Given the description of an element on the screen output the (x, y) to click on. 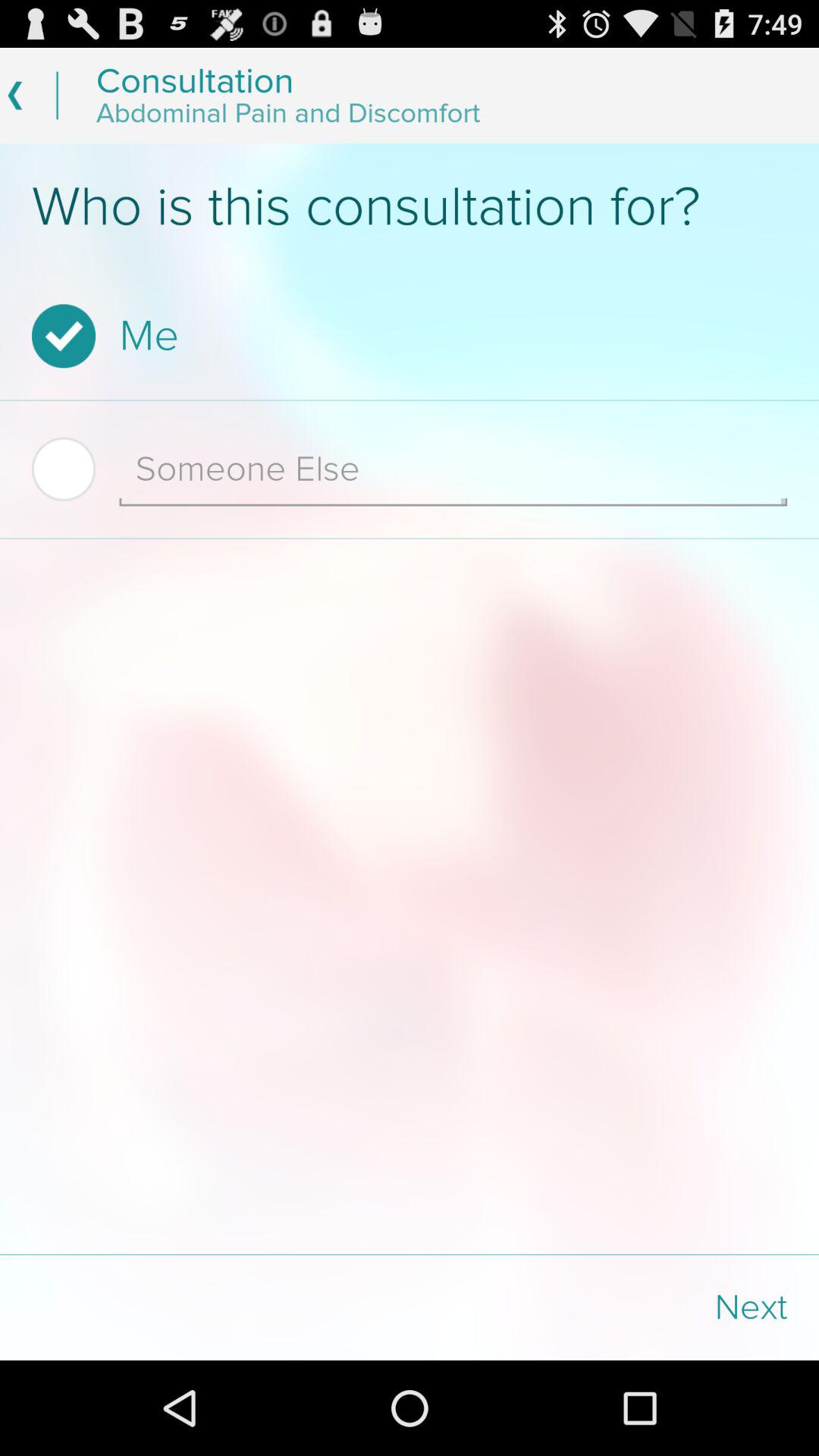
launch app below who is this item (405, 335)
